Given the description of an element on the screen output the (x, y) to click on. 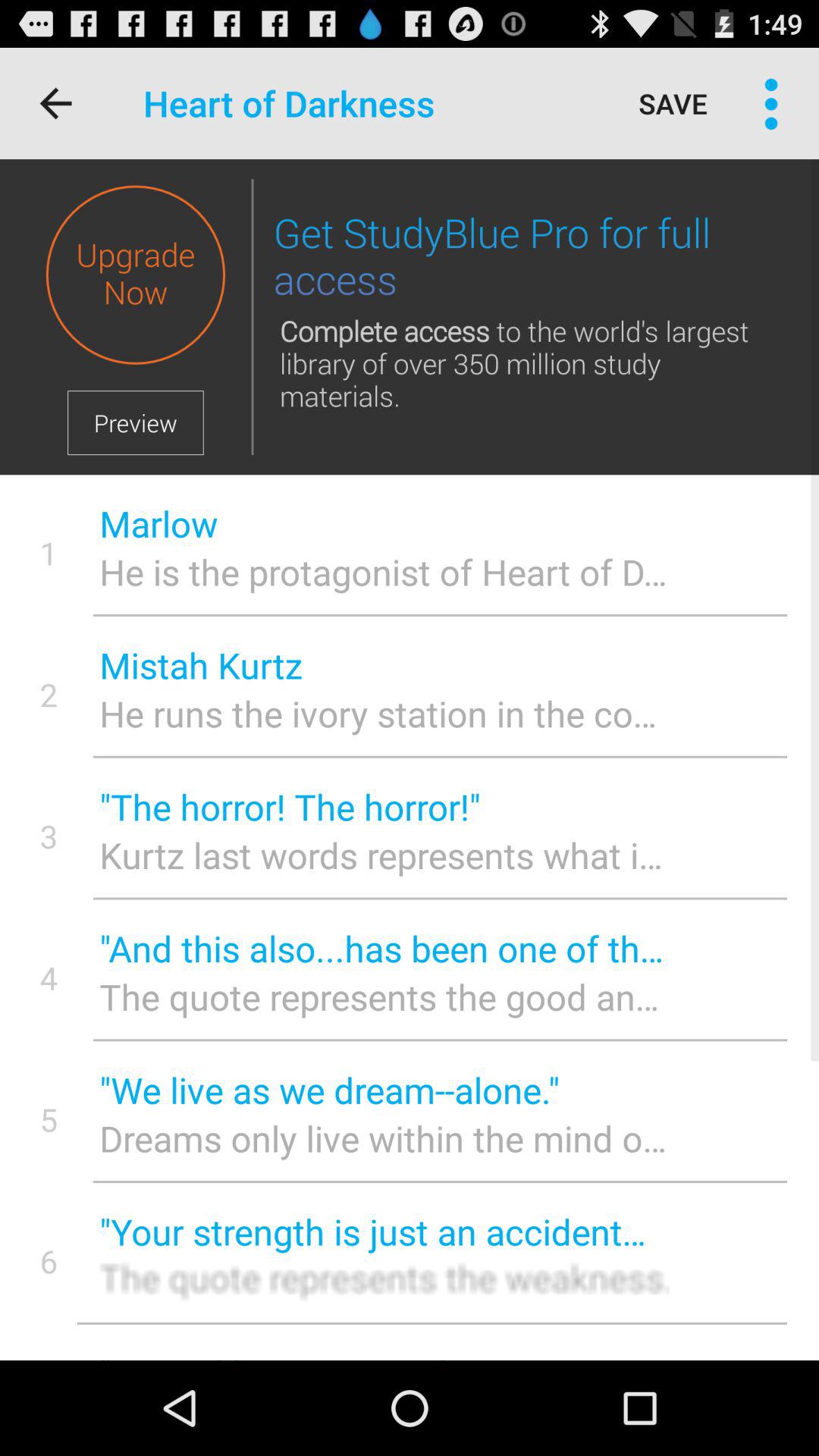
tap icon above the quote represents (384, 948)
